Given the description of an element on the screen output the (x, y) to click on. 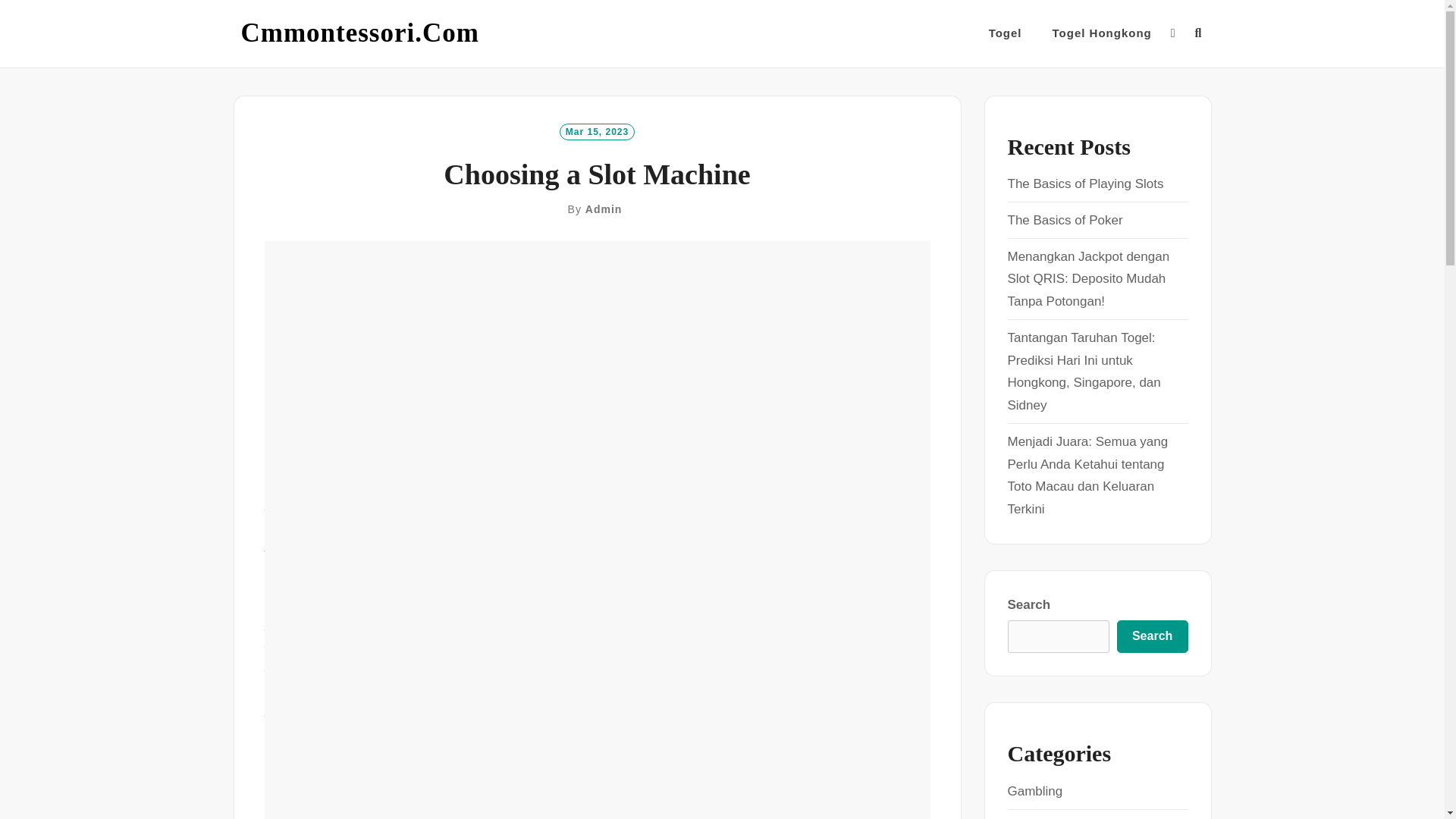
data sgp (829, 529)
Mar 15, 2023 (596, 130)
The Basics of Poker (1064, 219)
The Basics of Playing Slots (1085, 183)
Admin (604, 209)
Search (1152, 636)
Gambling (1034, 790)
Togel Hongkong (1101, 33)
Cmmontessori.Com (360, 33)
